Given the description of an element on the screen output the (x, y) to click on. 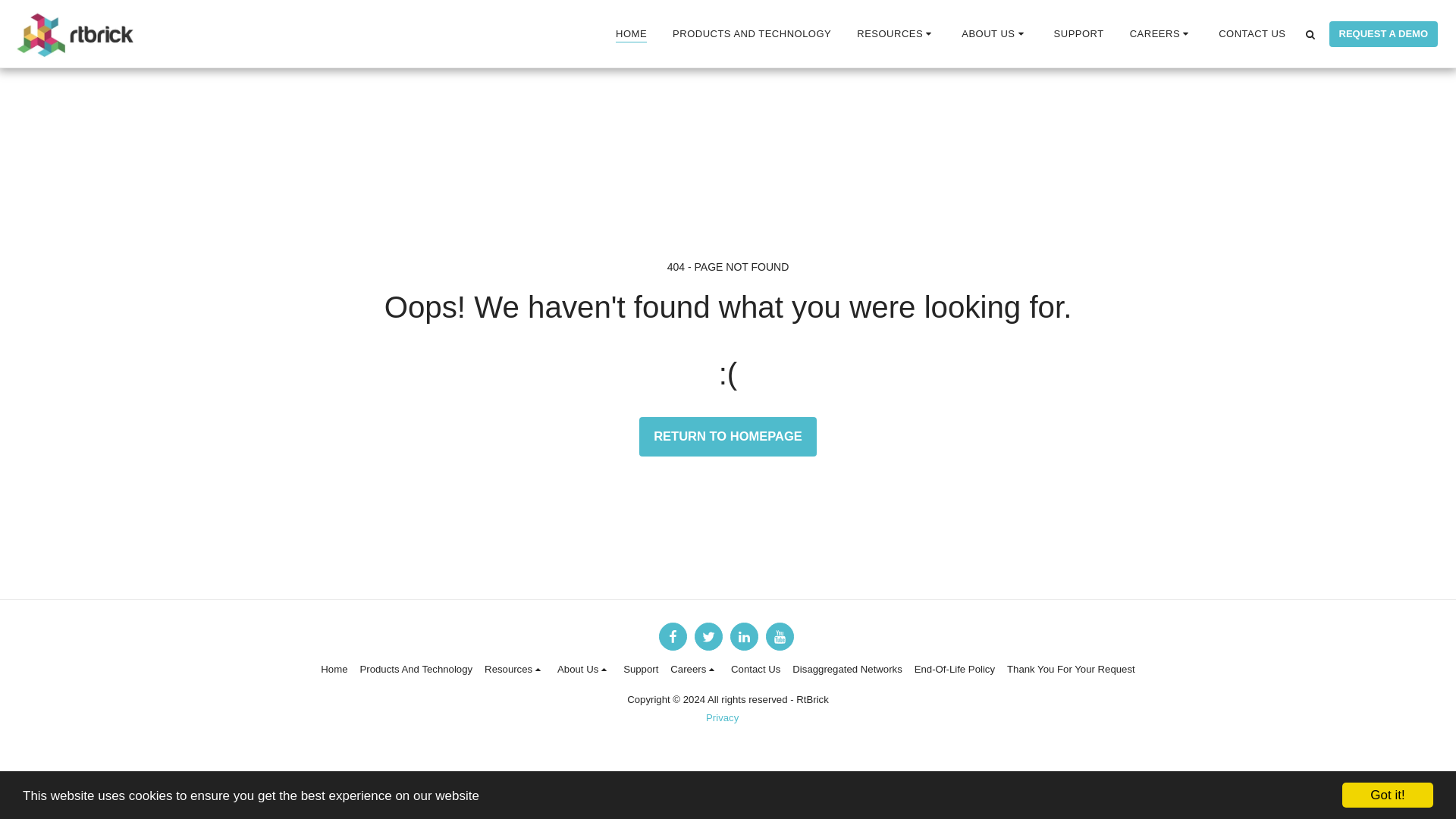
PRODUCTS AND TECHNOLOGY (752, 33)
HOME (631, 33)
SUPPORT (1079, 33)
ABOUT US   (994, 33)
REQUEST A DEMO (1382, 33)
RESOURCES   (895, 33)
REQUEST A DEMO (1383, 33)
CAREERS   (1161, 33)
CONTACT US (1252, 33)
